Given the description of an element on the screen output the (x, y) to click on. 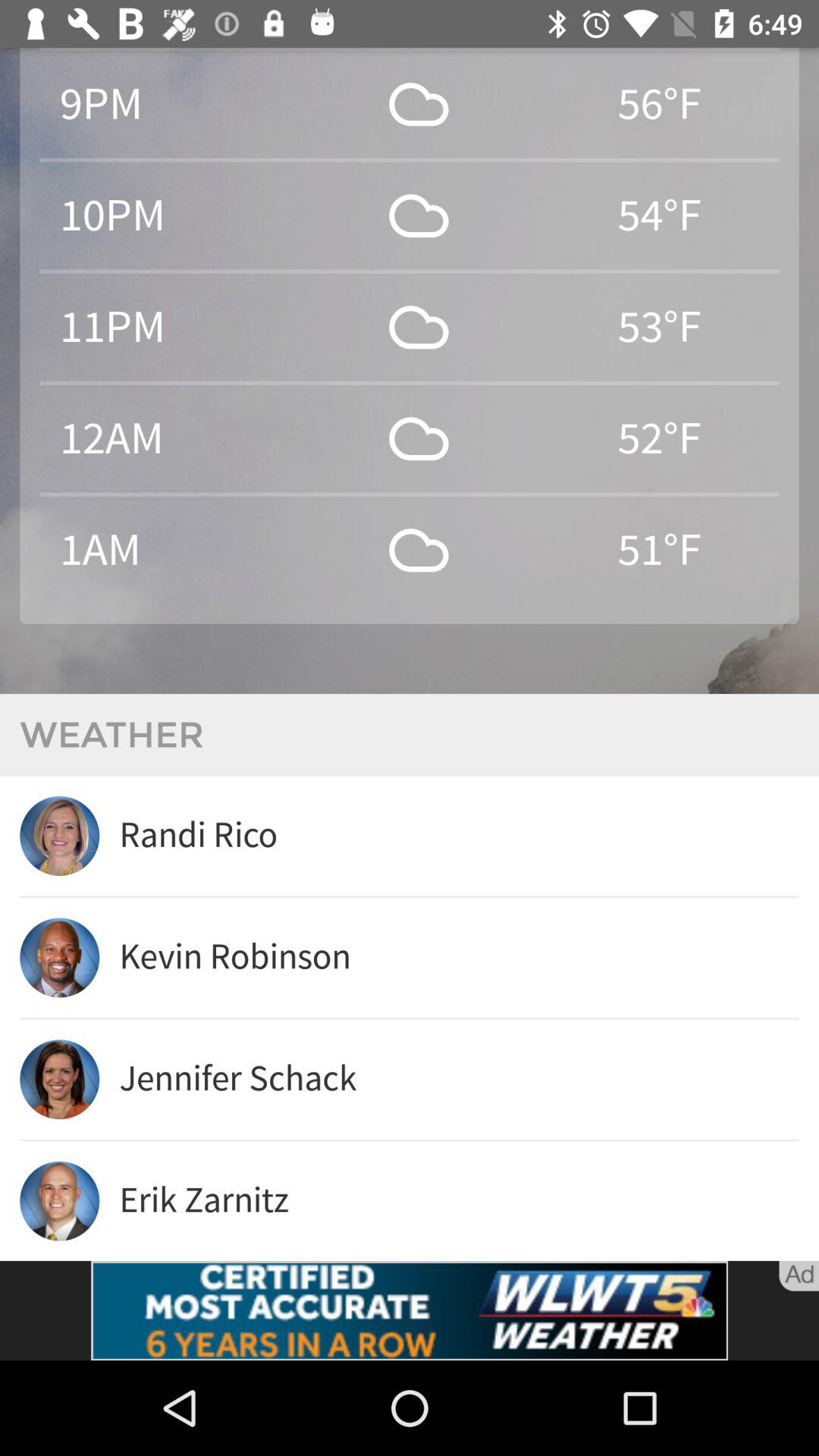
advertining widget on a weather app (409, 1310)
